Given the description of an element on the screen output the (x, y) to click on. 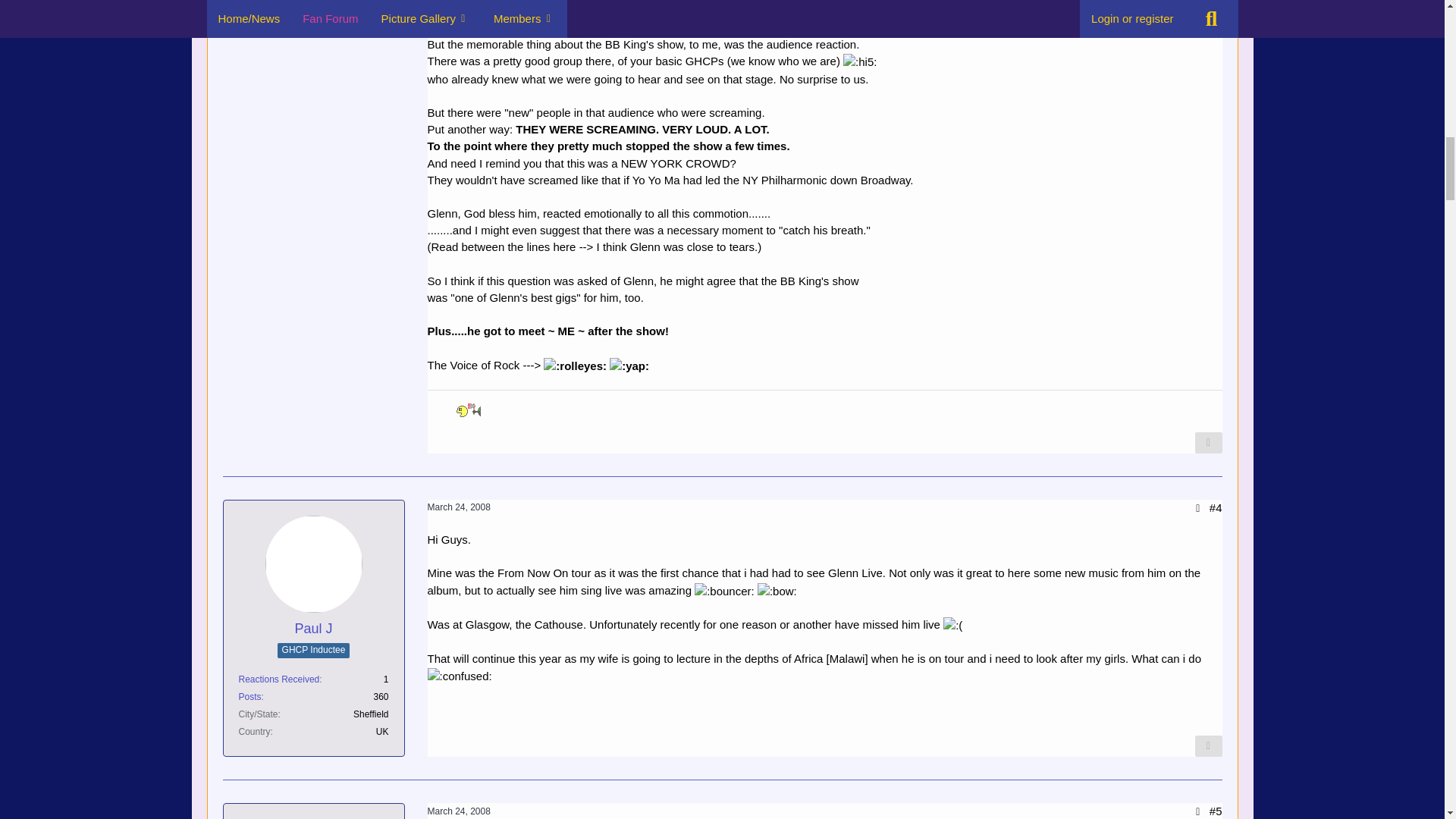
Hi5 (859, 62)
Yap (629, 365)
Bouncer (724, 591)
Bow (776, 591)
Confused (460, 676)
sad (952, 625)
rolleyes (575, 365)
